Given the description of an element on the screen output the (x, y) to click on. 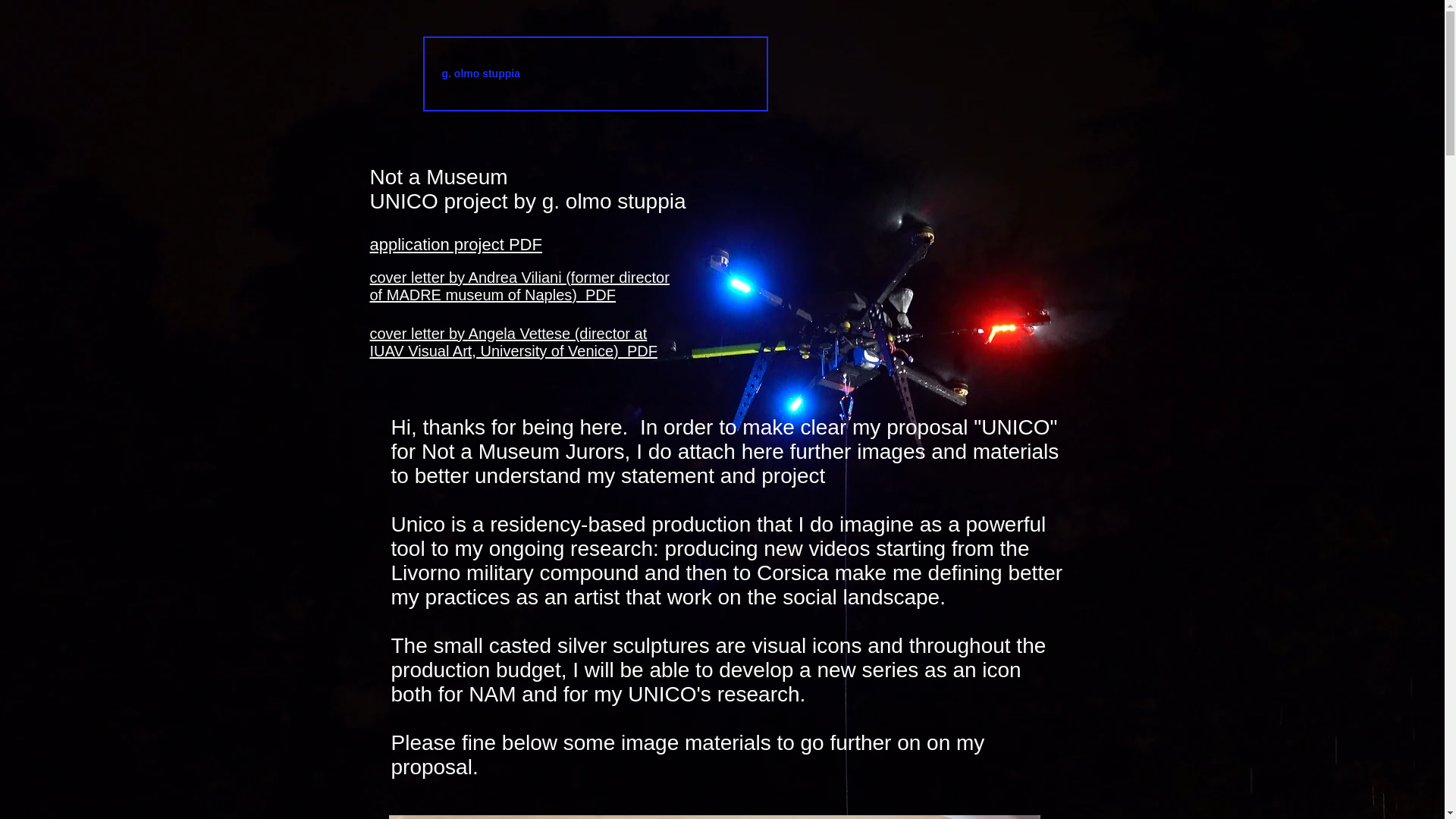
g. olmo stuppia (595, 73)
application project PDF (455, 244)
